Given the description of an element on the screen output the (x, y) to click on. 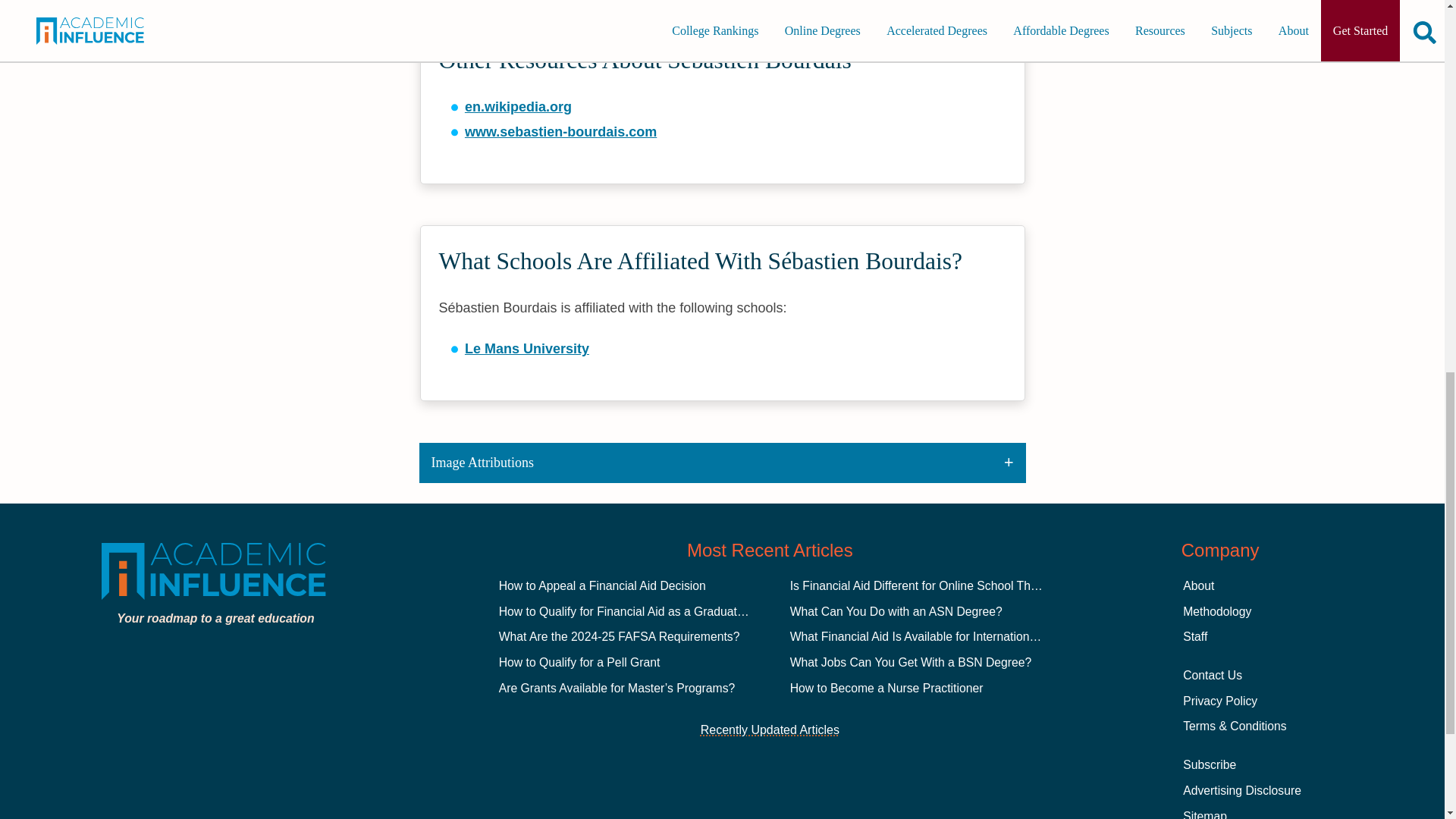
Staff (1194, 635)
Contact Us (1211, 675)
What Are the 2024-25 FAFSA Requirements? (619, 635)
Le Mans University (526, 348)
How to Qualify for Financial Aid as a Graduate Student (644, 611)
How to Appeal a Financial Aid Decision (602, 585)
How to Qualify for a Pell Grant (580, 662)
How to Become a Nurse Practitioner (887, 687)
Sitemap (1204, 814)
What Jobs Can You Get With a BSN Degree? (911, 662)
